Given the description of an element on the screen output the (x, y) to click on. 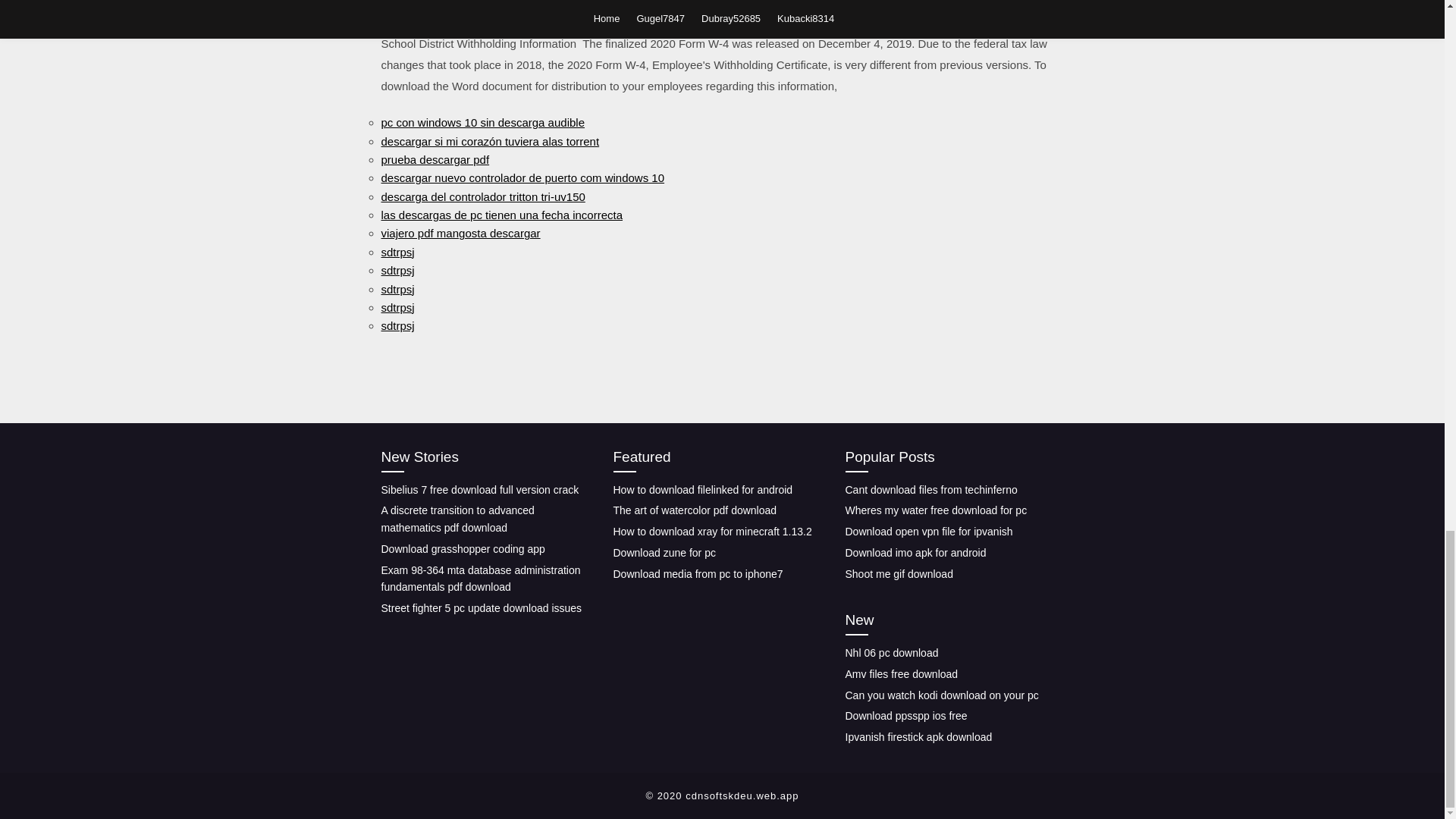
prueba descargar pdf (434, 159)
Download ppsspp ios free (905, 715)
A discrete transition to advanced mathematics pdf download (457, 518)
sdtrpsj (396, 307)
Download open vpn file for ipvanish (927, 531)
descarga del controlador tritton tri-uv150 (482, 196)
Nhl 06 pc download (890, 653)
Can you watch kodi download on your pc (941, 695)
Wheres my water free download for pc (935, 510)
